Given the description of an element on the screen output the (x, y) to click on. 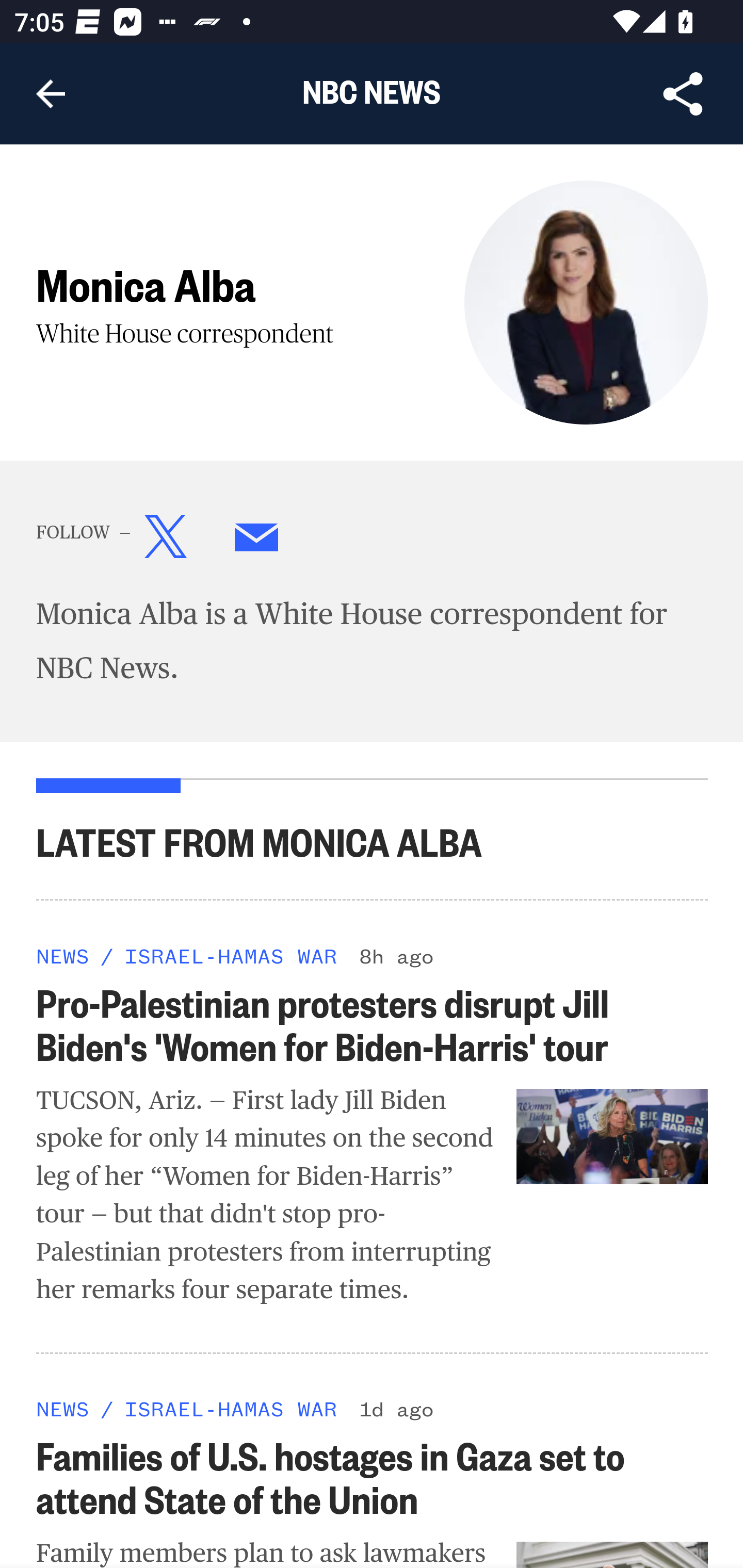
Navigate up (50, 93)
Share Article, button (683, 94)
 (165, 540)
 (256, 540)
NEWS NEWS NEWS (63, 954)
ISRAEL-HAMAS WAR ISRAEL-HAMAS WAR ISRAEL-HAMAS WAR (229, 954)
NEWS NEWS NEWS (63, 1408)
ISRAEL-HAMAS WAR ISRAEL-HAMAS WAR ISRAEL-HAMAS WAR (229, 1408)
